Given the description of an element on the screen output the (x, y) to click on. 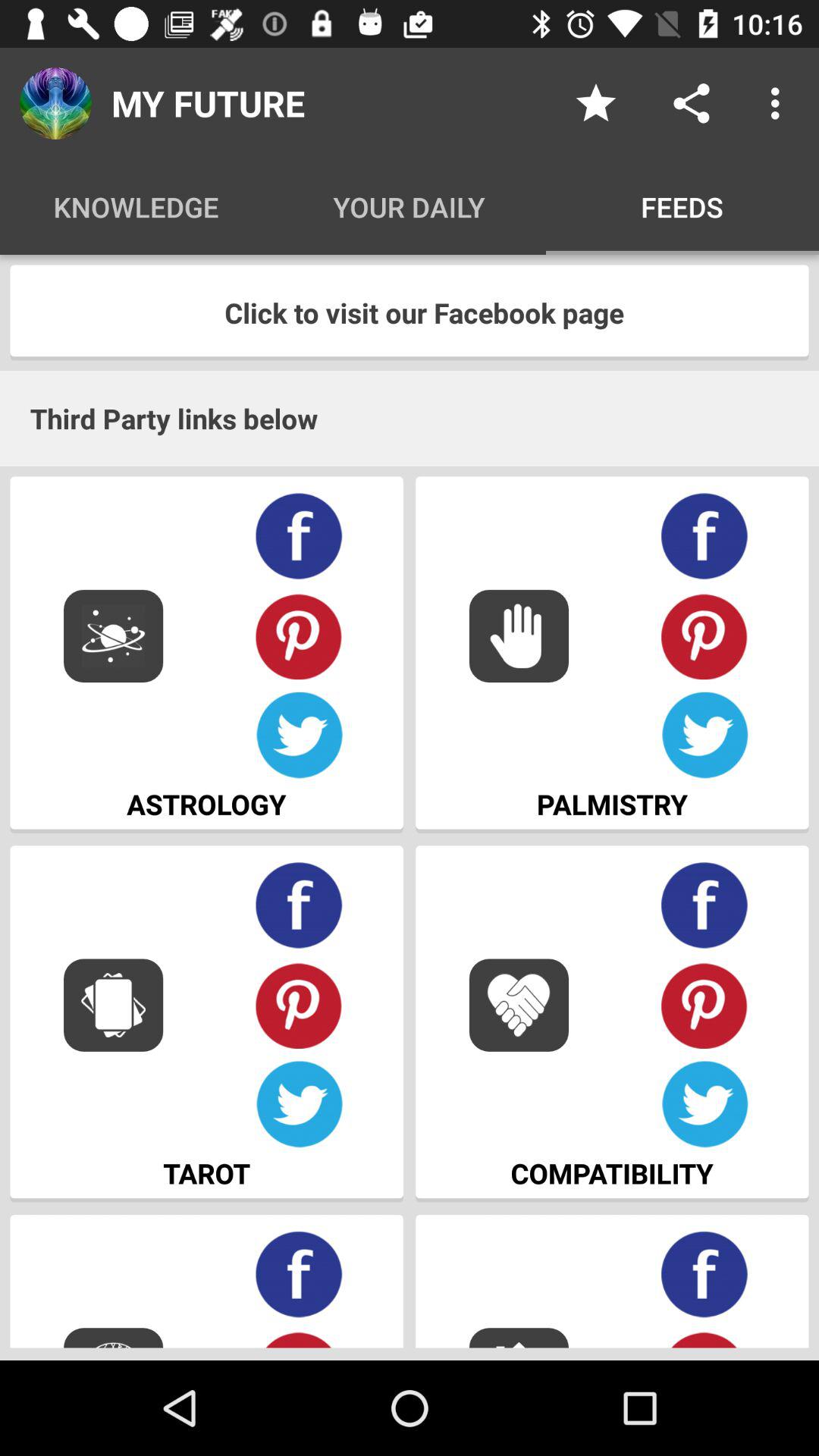
turn on the icon above the feeds (691, 103)
